Given the description of an element on the screen output the (x, y) to click on. 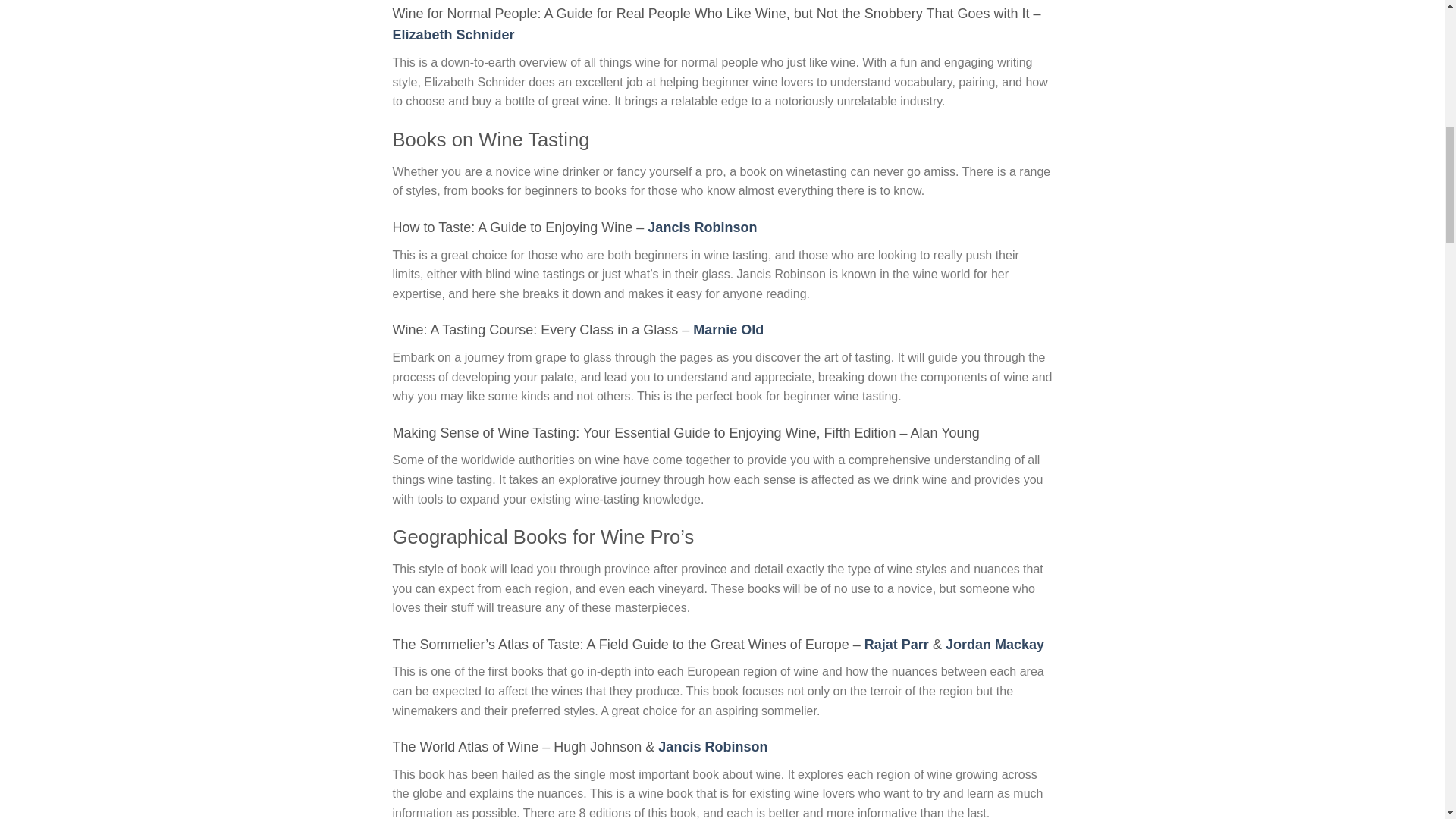
Jancis Robinson (702, 227)
Rajat Parr (896, 644)
Jancis Robinson (712, 746)
Elizabeth Schnider (454, 34)
Jordan Mackay (993, 644)
Marnie Old (727, 329)
